Given the description of an element on the screen output the (x, y) to click on. 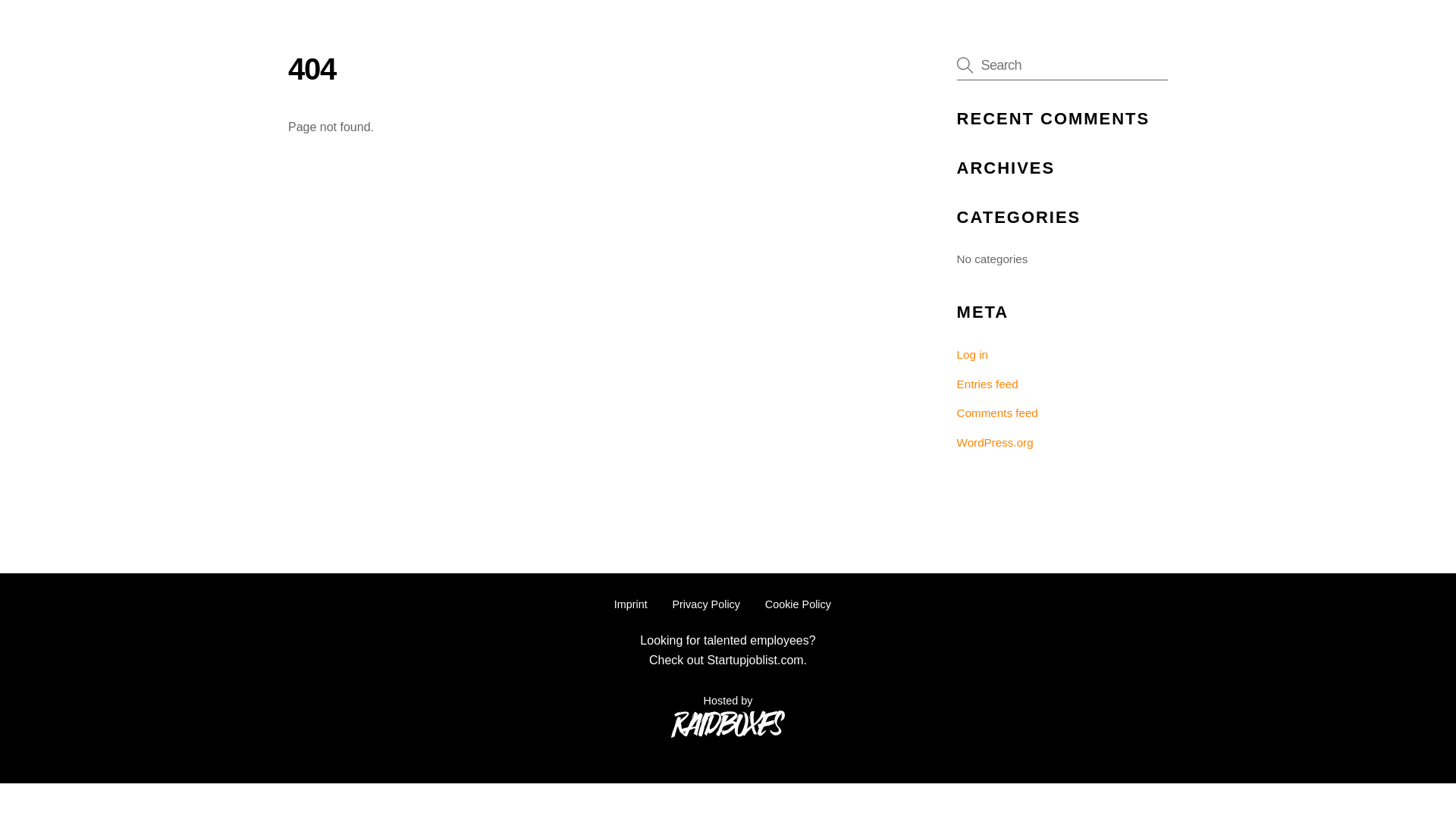
WordPress.org (994, 441)
Cookie Policy (798, 604)
Entries feed (986, 383)
Imprint (630, 604)
Comments feed (997, 412)
Looking for talented employees? (727, 640)
Privacy Policy (705, 604)
Search (1061, 64)
Privacy Policy (705, 604)
Log in (972, 354)
Check out Startupjoblist.com. (727, 659)
